Given the description of an element on the screen output the (x, y) to click on. 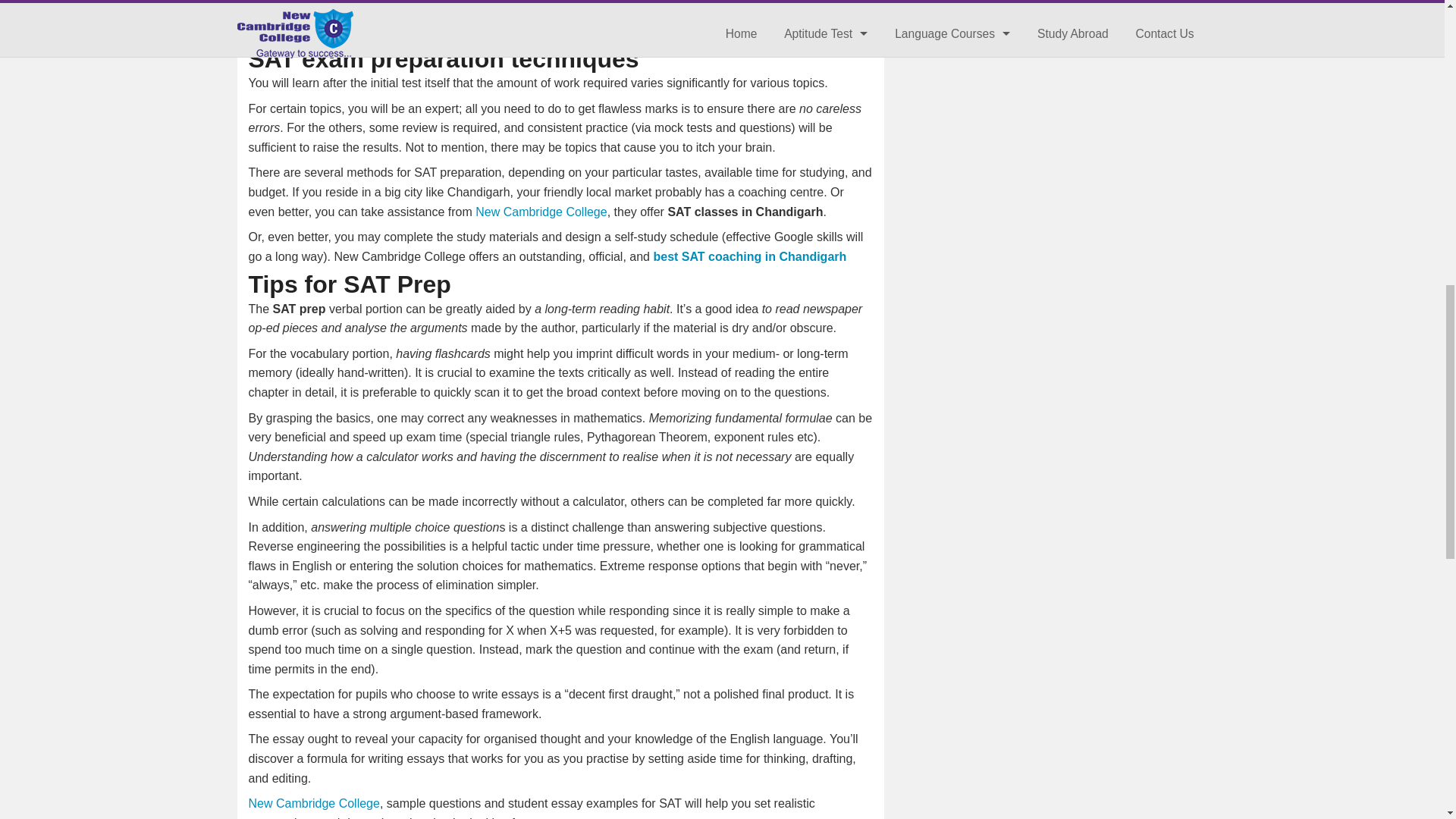
best SAT coaching in Chandigarh (748, 256)
New Cambridge College (314, 802)
New Cambridge College (541, 211)
